Given the description of an element on the screen output the (x, y) to click on. 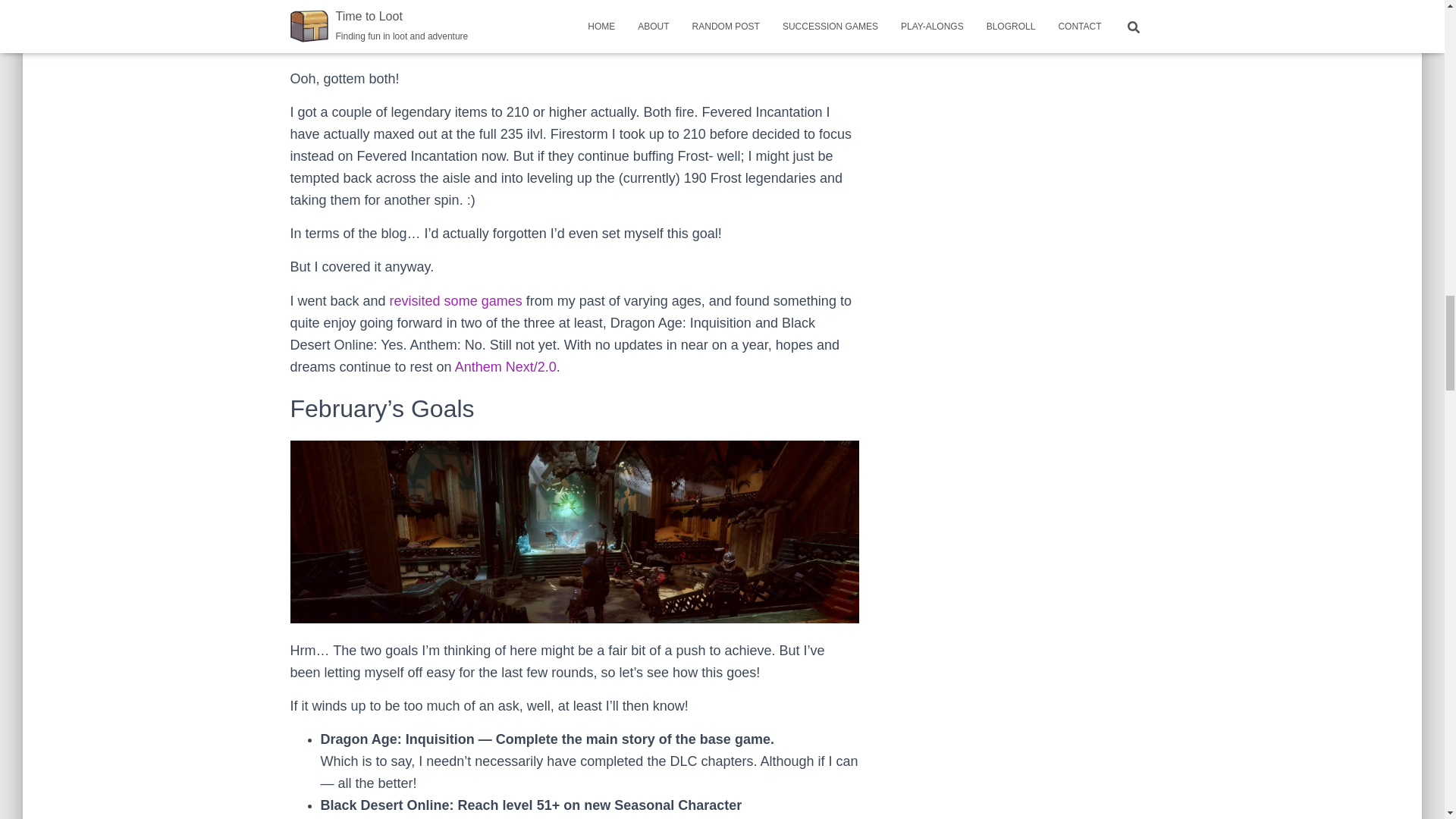
revisited some games (456, 300)
